Given the description of an element on the screen output the (x, y) to click on. 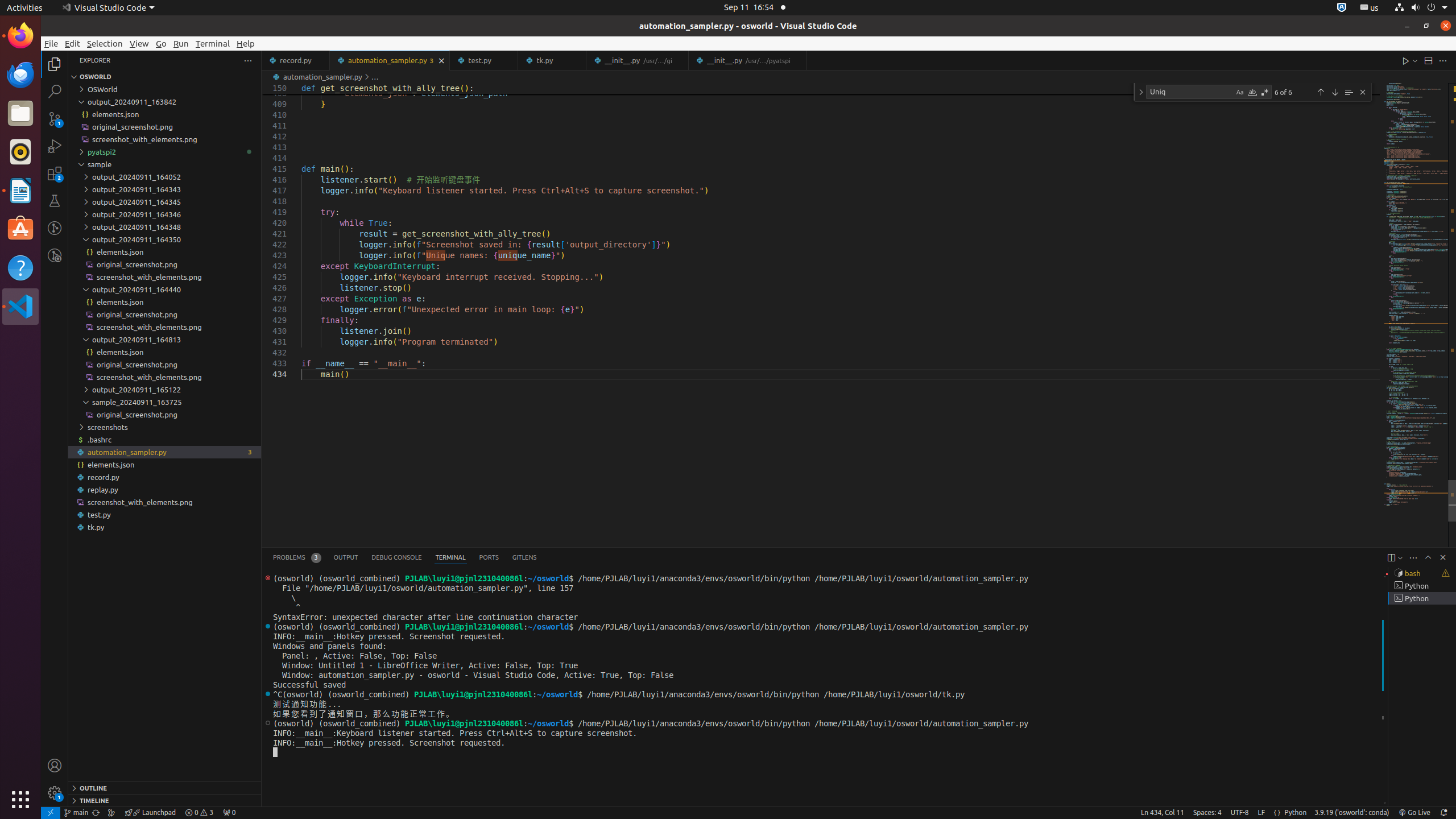
test.py Element type: tree-item (164, 514)
output_20240911_163842 Element type: tree-item (164, 101)
record.py Element type: page-tab (295, 60)
automation_sampler.py Element type: page-tab (389, 60)
Timeline Section Element type: push-button (164, 799)
